Given the description of an element on the screen output the (x, y) to click on. 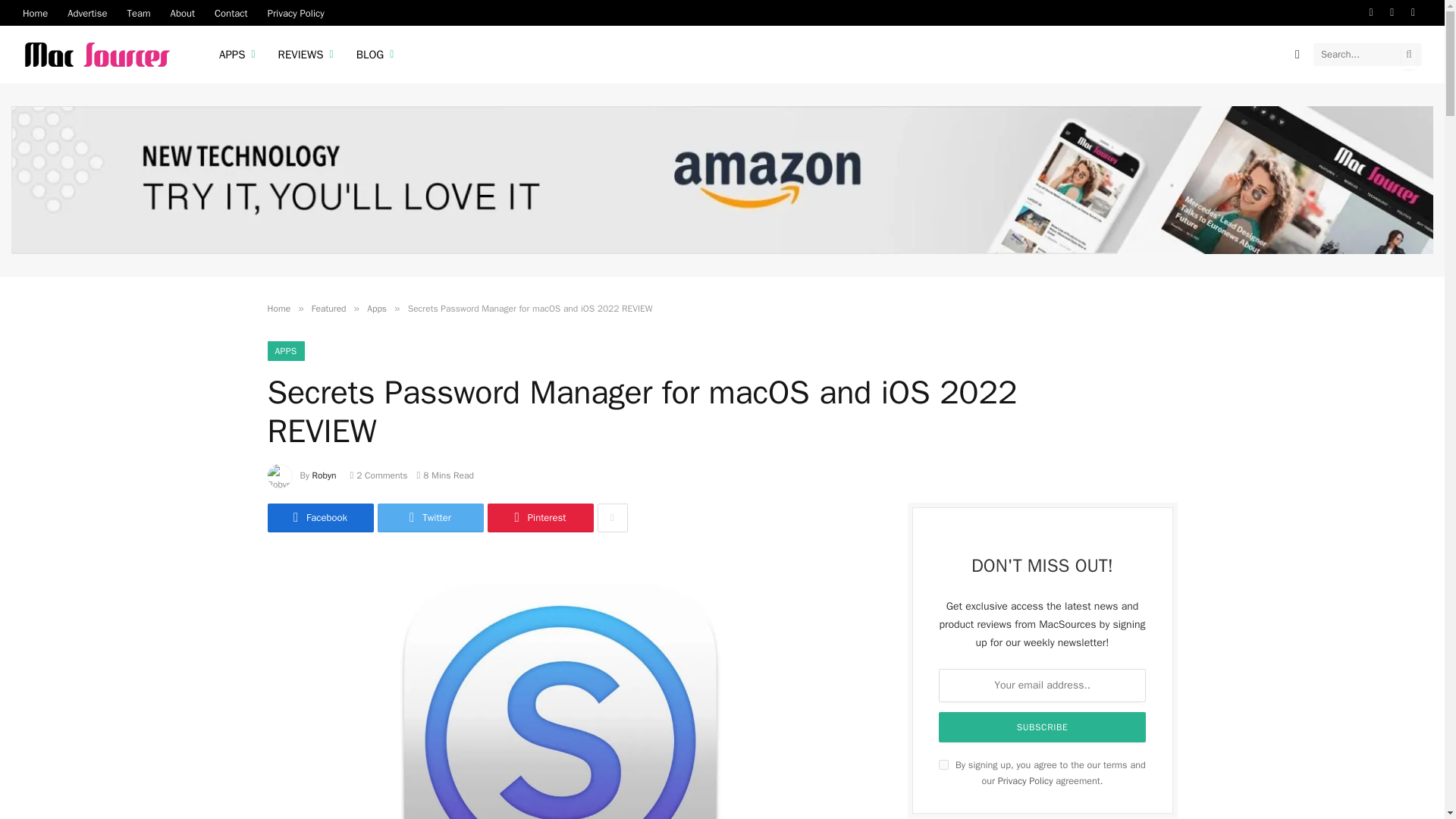
on (944, 764)
REVIEWS (305, 54)
Privacy Policy (295, 12)
About (182, 12)
MacSources (101, 54)
Contact (231, 12)
Advertise (87, 12)
Subscribe (1043, 726)
APPS (237, 54)
Home (35, 12)
Team (138, 12)
